Given the description of an element on the screen output the (x, y) to click on. 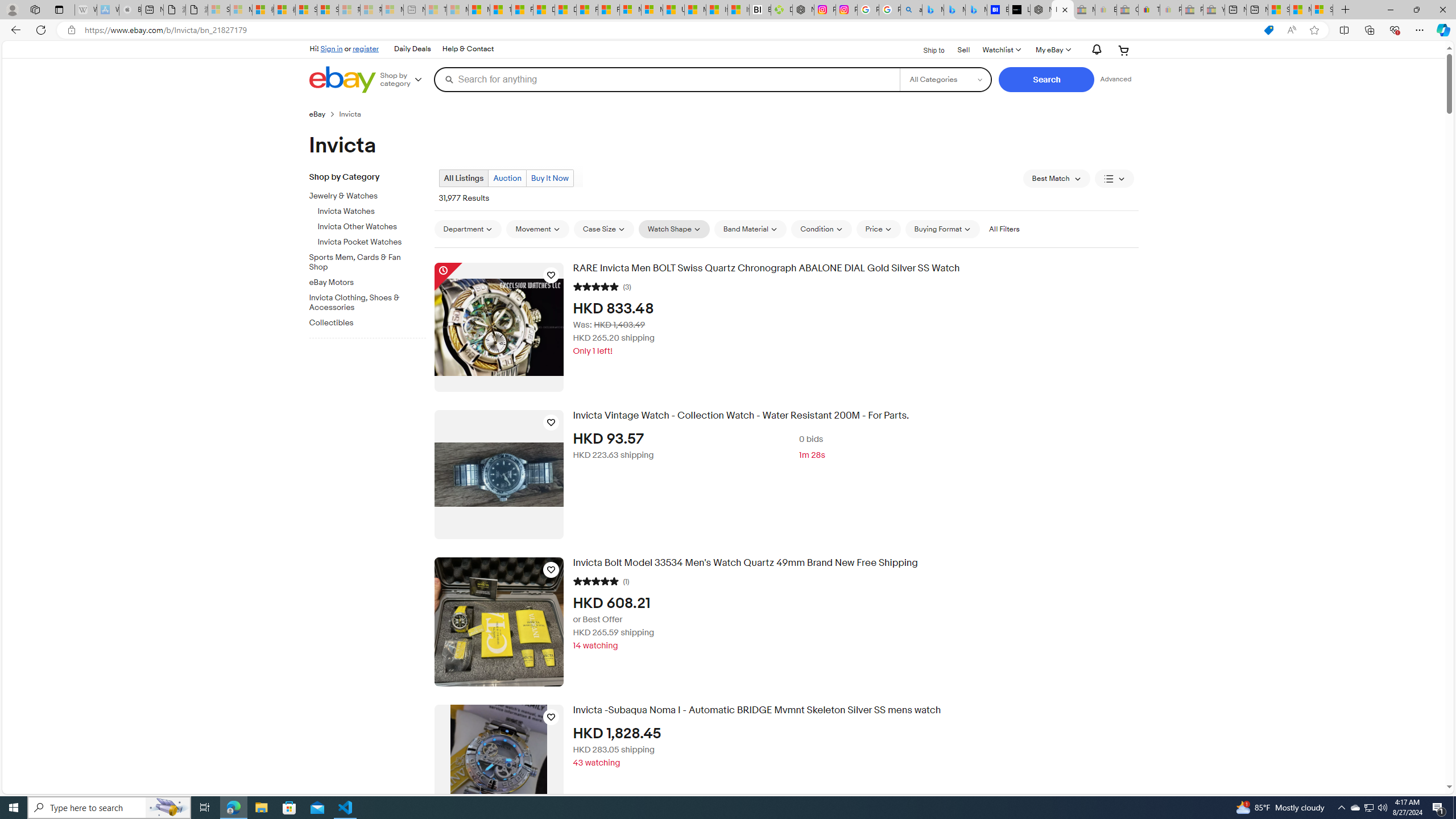
Sign in to your Microsoft account - Sleeping (218, 9)
Price (878, 229)
eBay Home (341, 79)
Department (467, 229)
Case Size (603, 229)
Auction (506, 177)
Daily Deals (411, 49)
Invicta Watches (371, 211)
US Heat Deaths Soared To Record High Last Year (673, 9)
Foo BAR | Trusted Community Engagement and Contributions (608, 9)
Sports Mem, Cards & Fan Shop (362, 262)
Sign in to your Microsoft account (1322, 9)
